Given the description of an element on the screen output the (x, y) to click on. 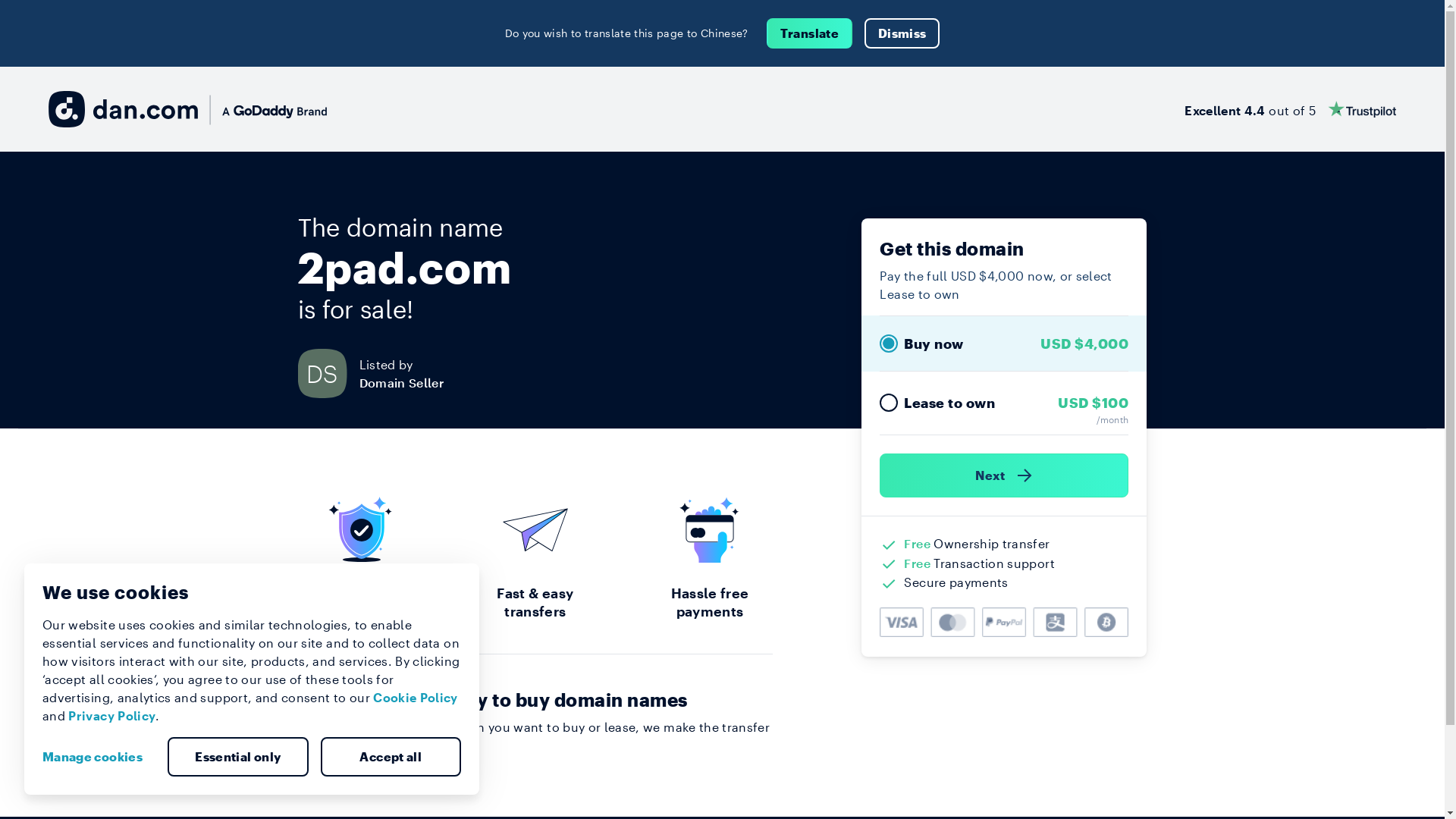
Privacy Policy Element type: text (111, 715)
Dismiss Element type: text (901, 33)
Cookie Policy Element type: text (415, 697)
Manage cookies Element type: text (98, 756)
Excellent 4.4 out of 5 Element type: text (1290, 109)
Next
) Element type: text (1003, 475)
Essential only Element type: text (237, 756)
Translate Element type: text (809, 33)
Accept all Element type: text (390, 756)
